Given the description of an element on the screen output the (x, y) to click on. 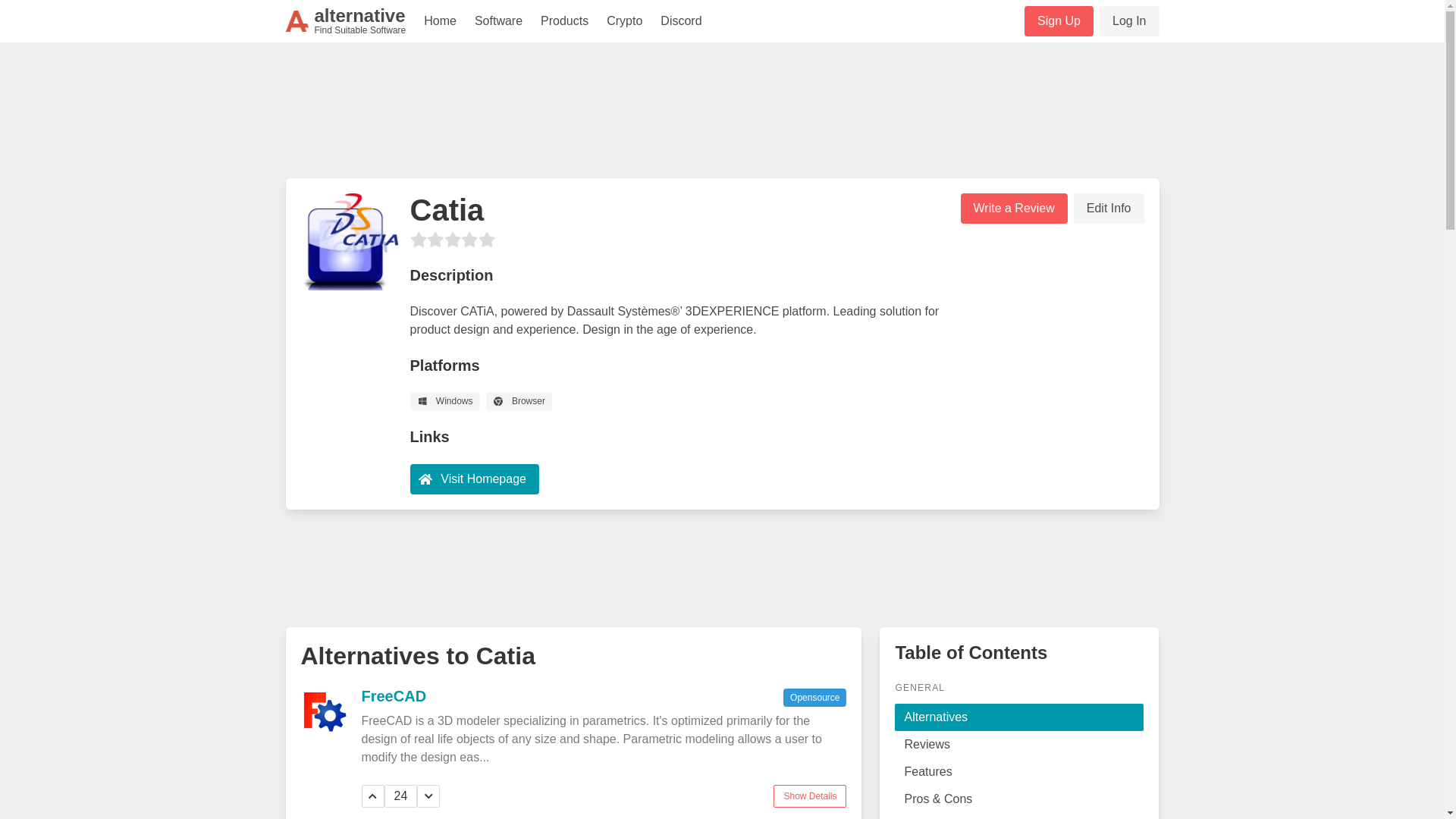
Products (563, 21)
Edit Info (345, 21)
Software (1109, 208)
FreeCAD (498, 21)
Advertisement (393, 695)
Advertisement (721, 116)
Crypto (721, 565)
Log In (623, 21)
Home (1128, 20)
Sign Up (439, 21)
Show Details (1059, 20)
Visit Homepage (809, 795)
Write a Review (473, 479)
Discord (1013, 208)
